Given the description of an element on the screen output the (x, y) to click on. 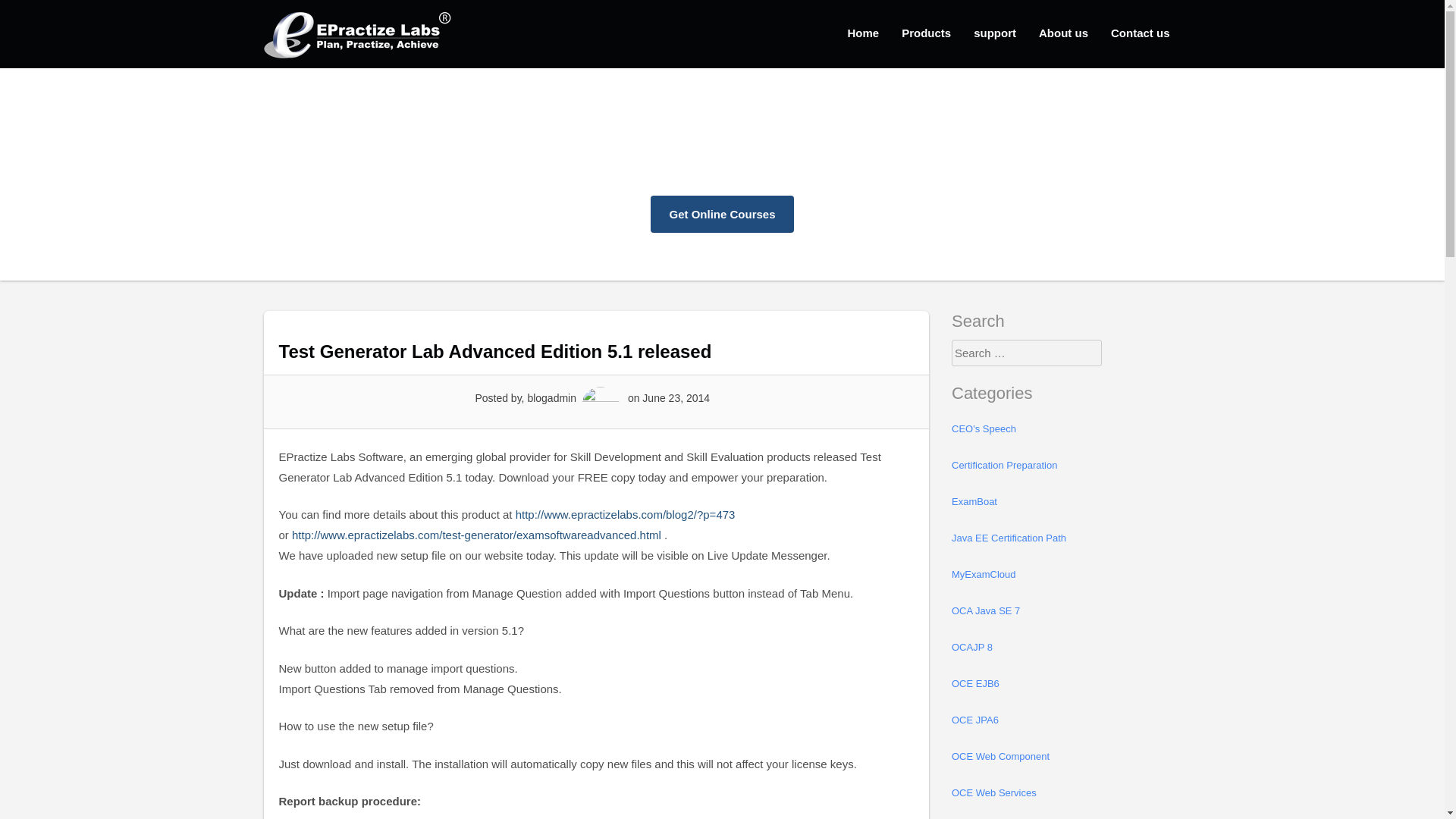
OCA Java SE 7 Programmer (1055, 610)
Oracle Java and PMP Certification Preparation (1055, 465)
Products (925, 32)
Online Exam and Certification Preparation (357, 33)
Oracle Certified Associate, Java SE 8 Programmer (1055, 647)
Contact us (1139, 32)
OCE Java EE Web Component Developer Certification (1055, 756)
Home (862, 32)
CEO's Speech (1055, 429)
OCE Java EE 6 Web Services Developer Certification (1055, 792)
OCE Java EE 6 EJB Developer Certification (1055, 683)
OCE Web Component (1055, 756)
Search for: (1027, 352)
